Given the description of an element on the screen output the (x, y) to click on. 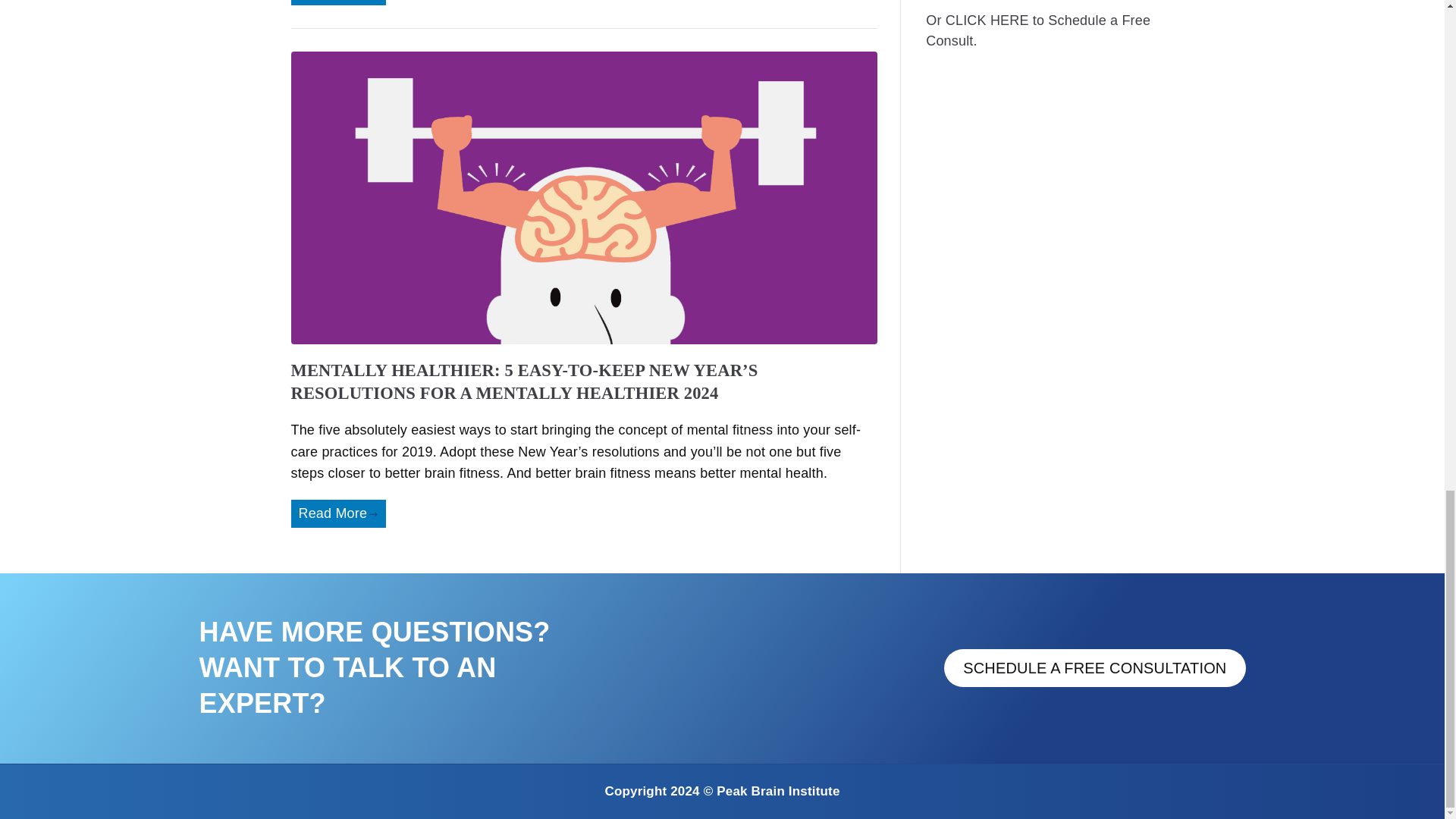
Read More (338, 2)
